Given the description of an element on the screen output the (x, y) to click on. 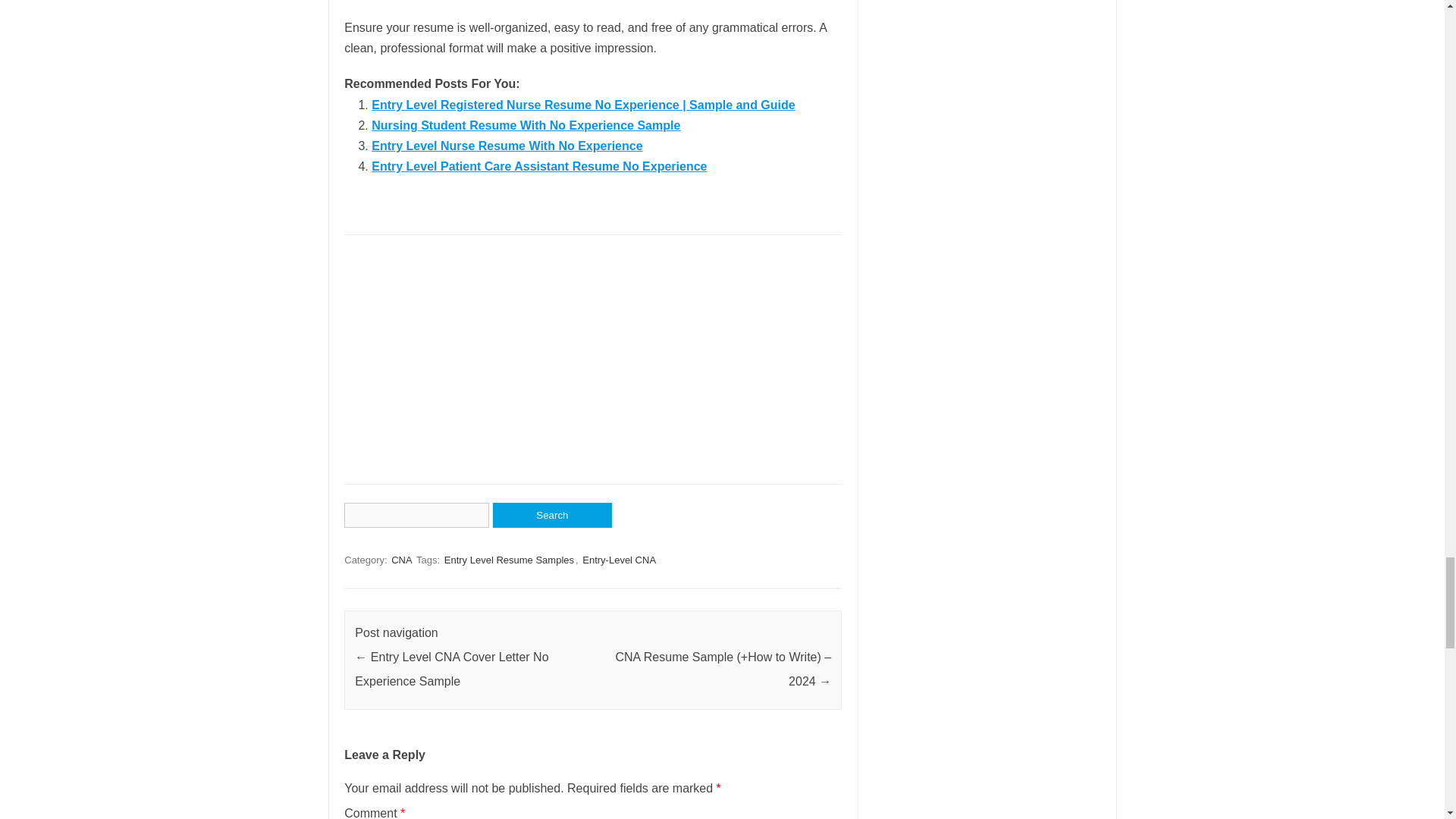
Nursing Student Resume With No Experience Sample (525, 124)
Entry Level Resume Samples (508, 559)
Search (552, 514)
Nursing Student Resume With No Experience Sample (525, 124)
Entry Level Nurse Resume With No Experience (506, 145)
Entry Level Patient Care Assistant Resume No Experience (538, 165)
Entry Level Patient Care Assistant Resume No Experience (538, 165)
Entry-Level CNA (619, 559)
Entry Level Nurse Resume With No Experience (506, 145)
CNA (401, 559)
